Given the description of an element on the screen output the (x, y) to click on. 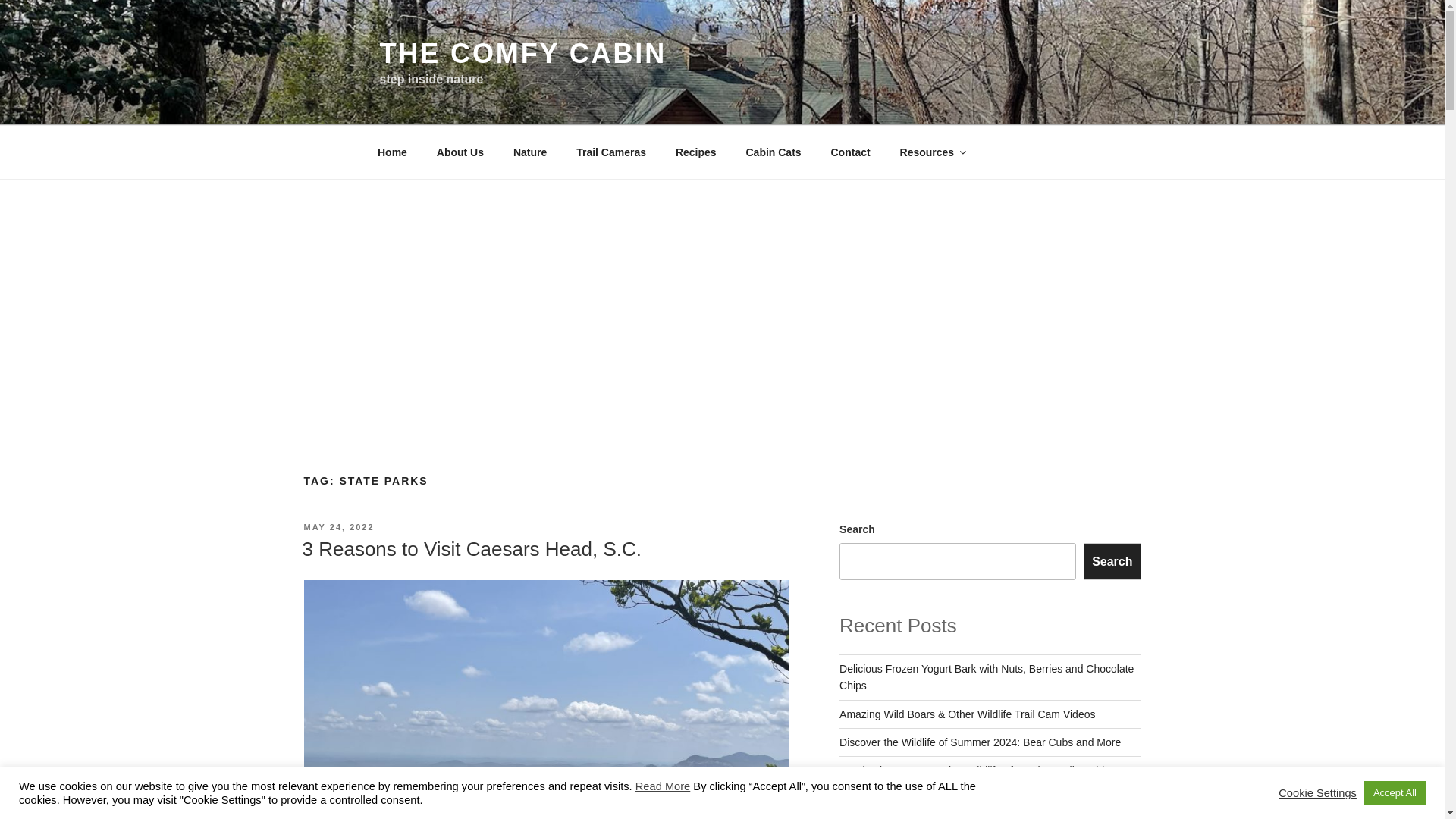
Recipes (695, 151)
Nature (529, 151)
Contact (849, 151)
Resources (932, 151)
Discover the Wildlife of Summer 2024: Bear Cubs and More (980, 742)
THE COMFY CABIN (522, 52)
Cabin Cats (772, 151)
About Us (459, 151)
3 Reasons to Visit Caesars Head, S.C. (471, 548)
Home (392, 151)
Search (1111, 560)
Trail Cameras (611, 151)
MAY 24, 2022 (338, 526)
